Given the description of an element on the screen output the (x, y) to click on. 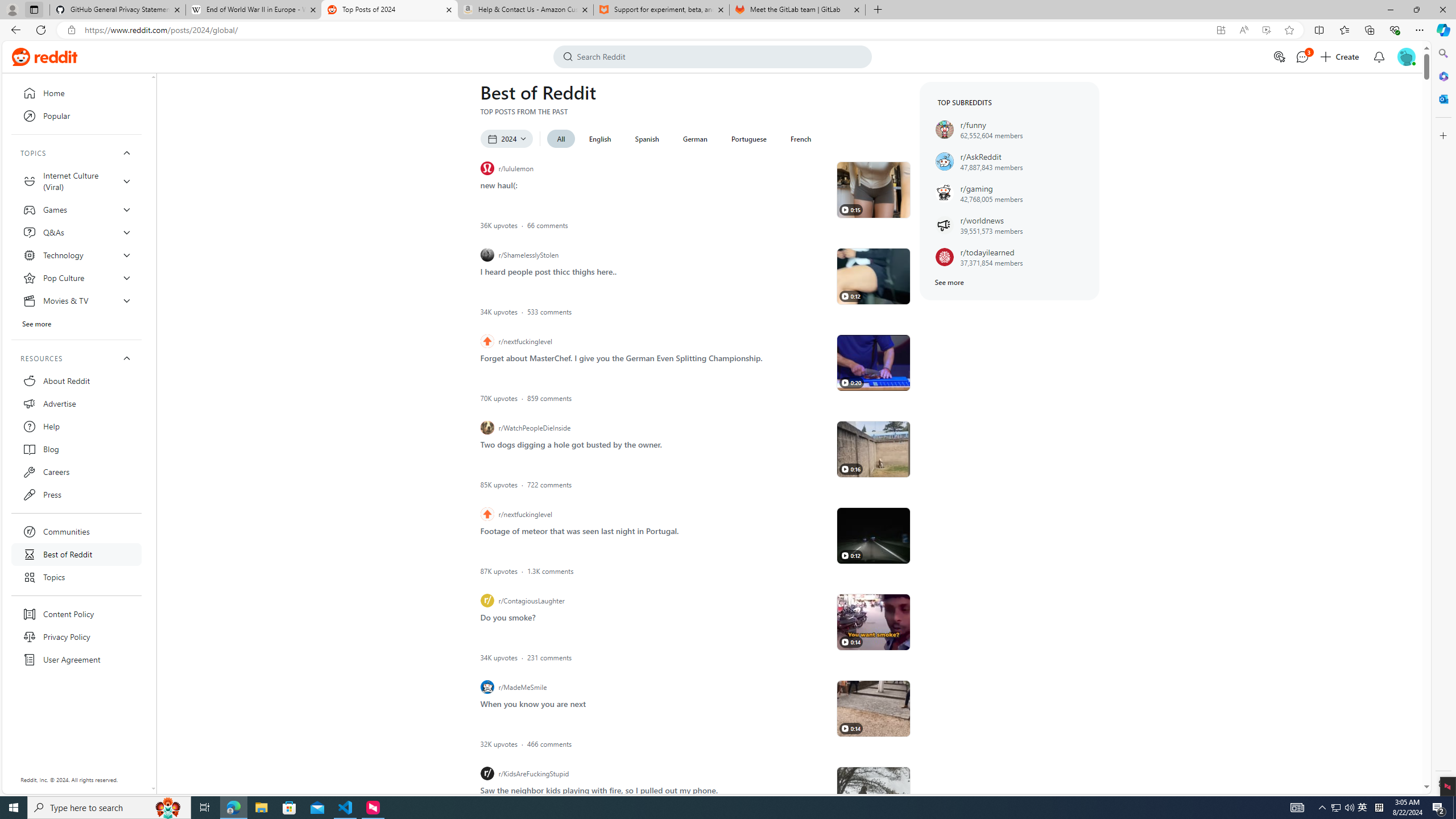
GitHub General Privacy Statement - GitHub Docs (117, 9)
